Given the description of an element on the screen output the (x, y) to click on. 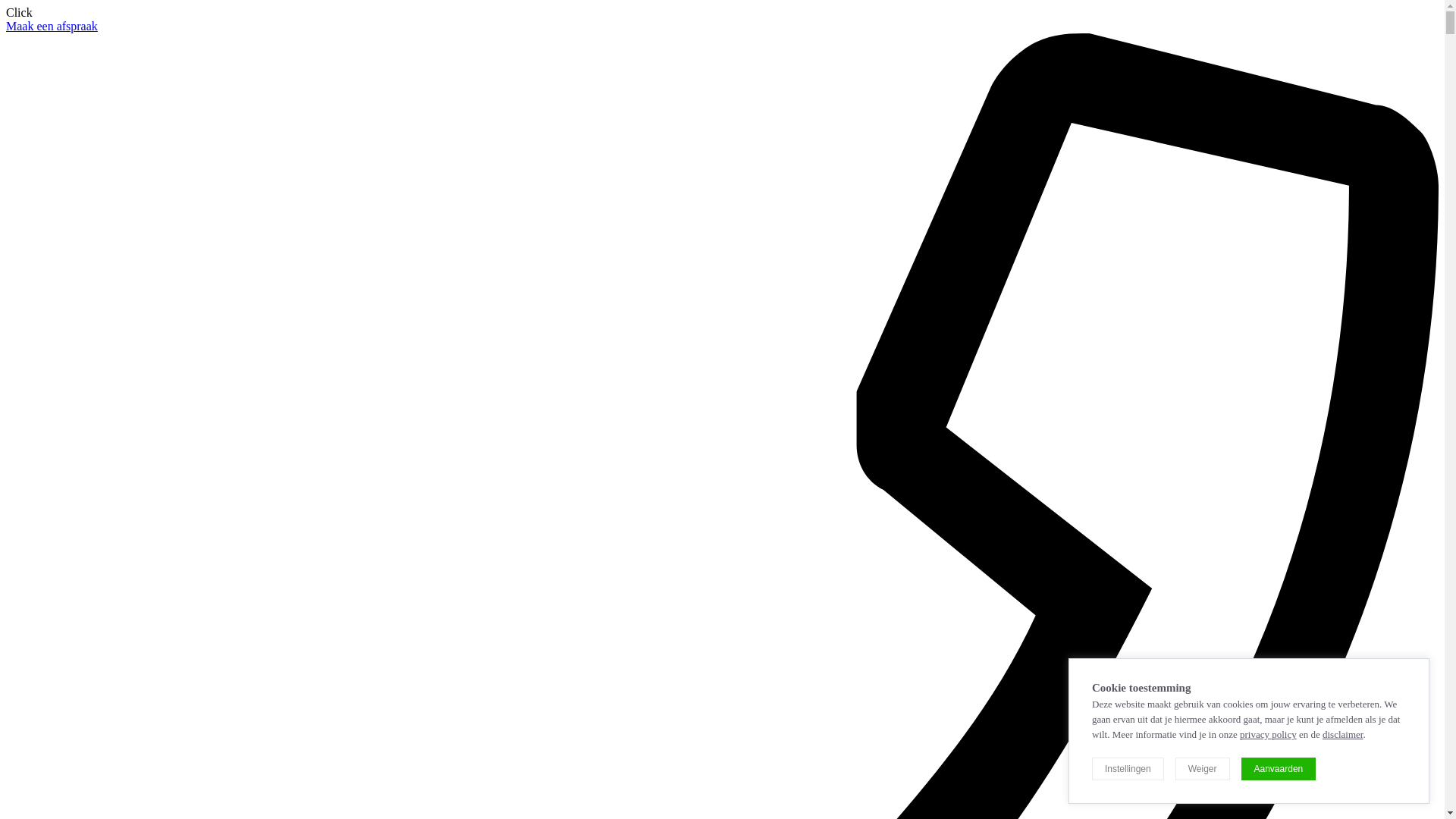
privacy policy Element type: text (1267, 734)
disclaimer Element type: text (1342, 734)
Weiger Element type: text (1202, 768)
Aanvaarden Element type: text (1278, 768)
Instellingen Element type: text (1128, 768)
Maak een afspraak Element type: text (51, 25)
